Given the description of an element on the screen output the (x, y) to click on. 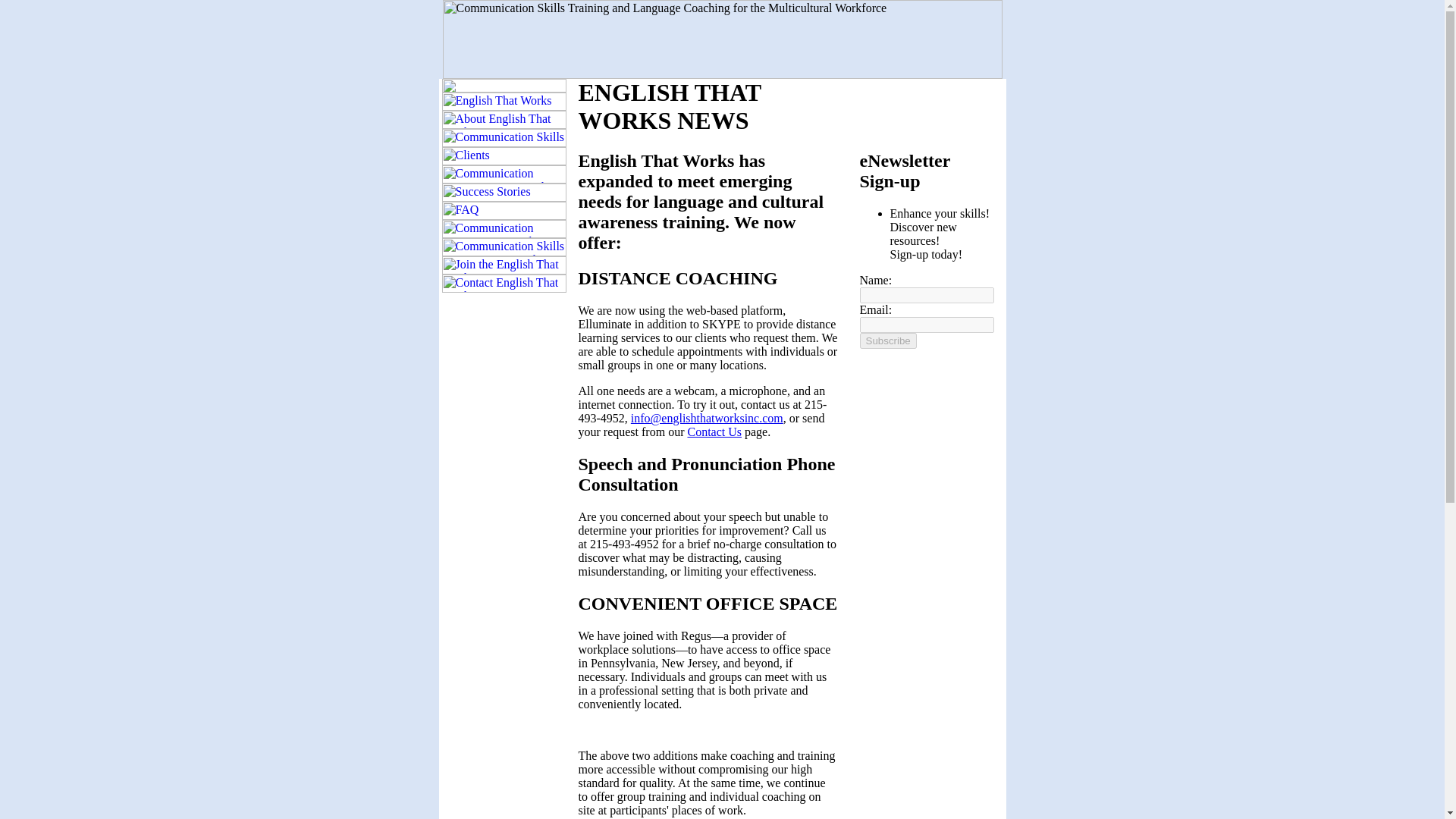
Subscribe (888, 340)
Subscribe (888, 340)
Contact Us (714, 431)
